Given the description of an element on the screen output the (x, y) to click on. 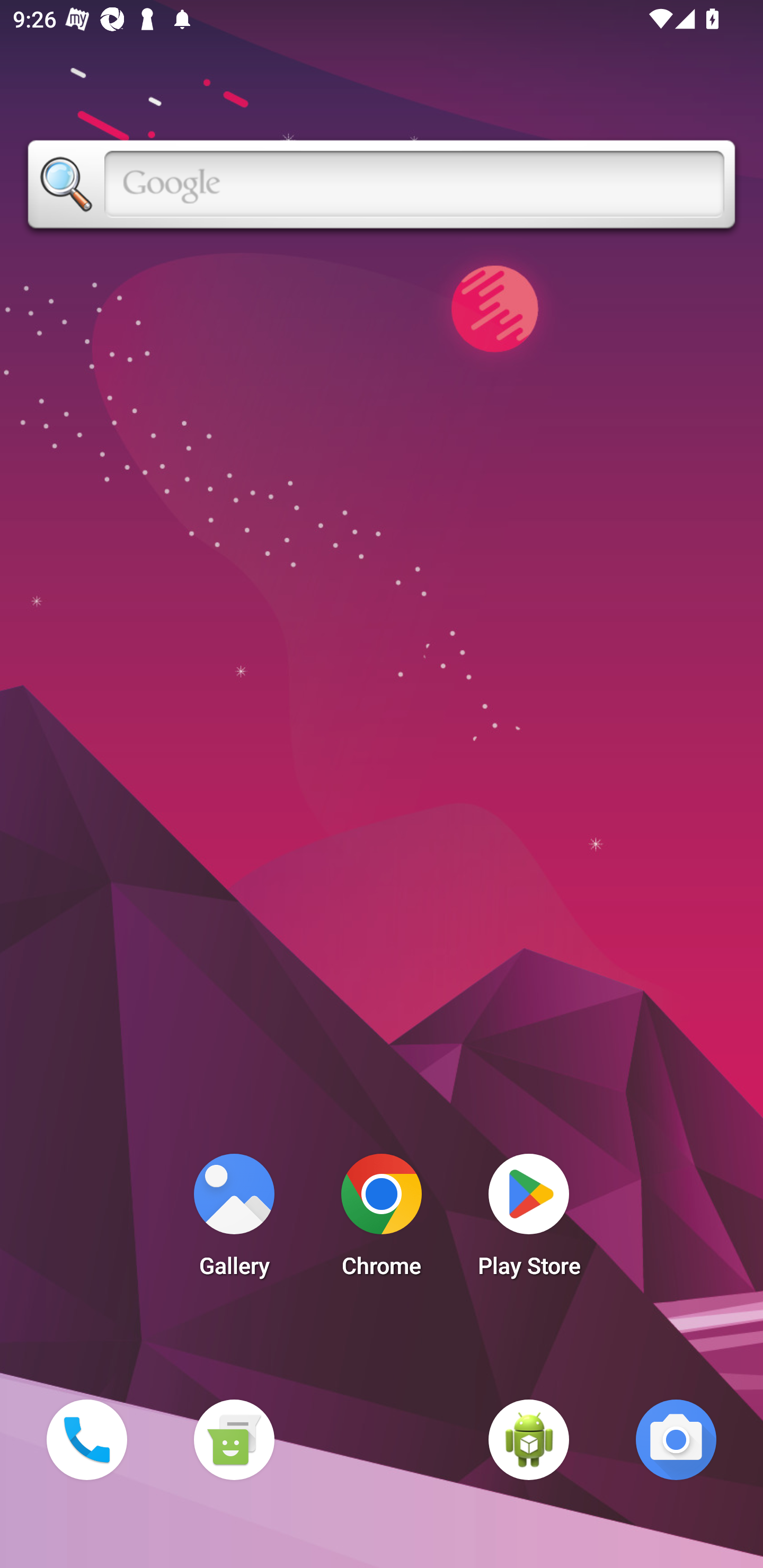
Gallery (233, 1220)
Chrome (381, 1220)
Play Store (528, 1220)
Phone (86, 1439)
Messaging (233, 1439)
WebView Browser Tester (528, 1439)
Camera (676, 1439)
